Given the description of an element on the screen output the (x, y) to click on. 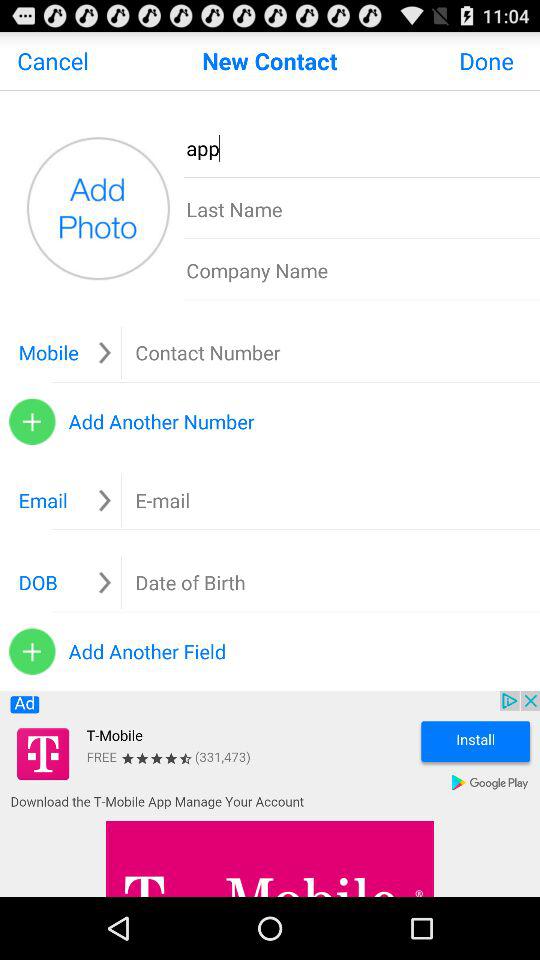
ender the date of birth box (190, 582)
